Given the description of an element on the screen output the (x, y) to click on. 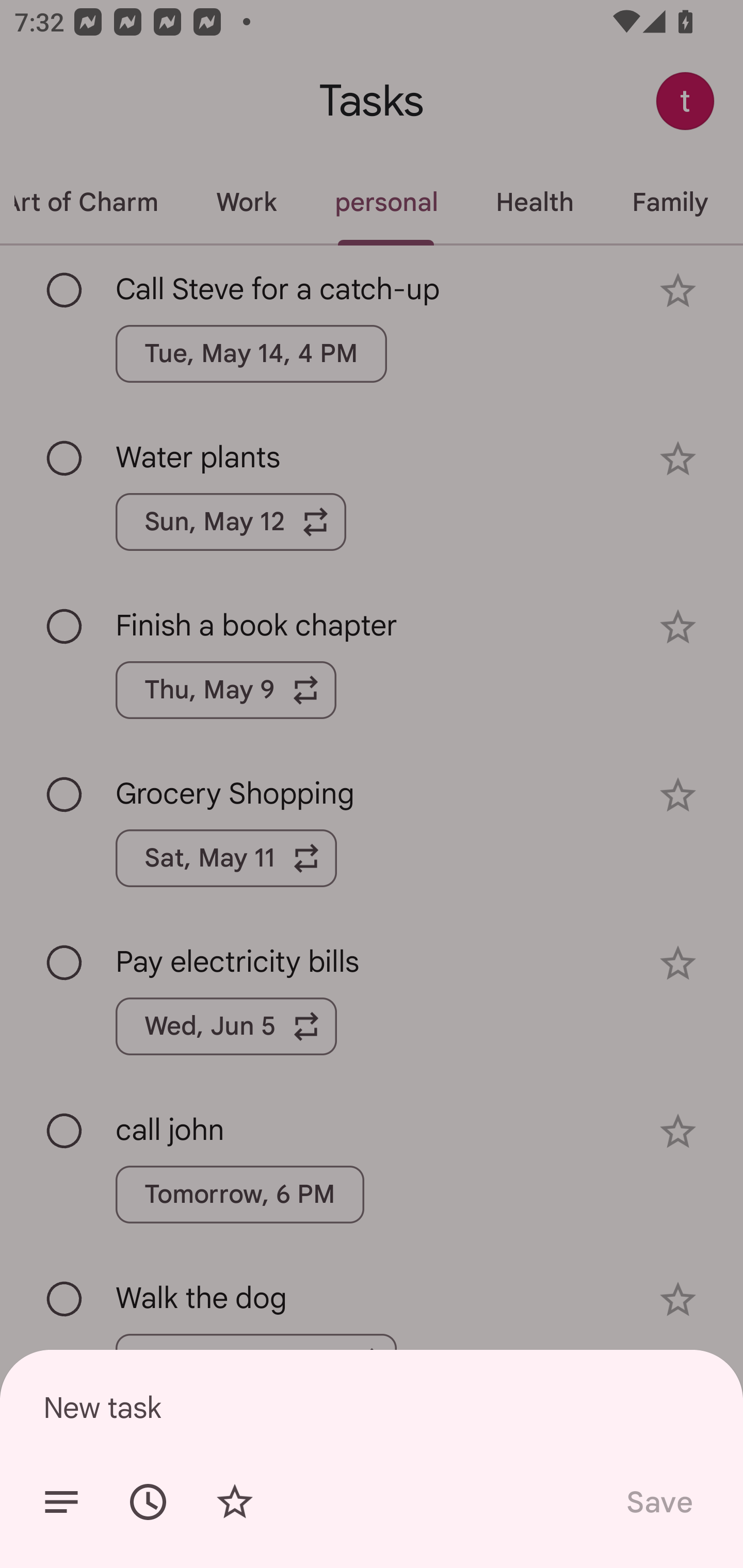
New task (371, 1407)
Save (659, 1501)
Add details (60, 1501)
Set date/time (147, 1501)
Add star (234, 1501)
